Given the description of an element on the screen output the (x, y) to click on. 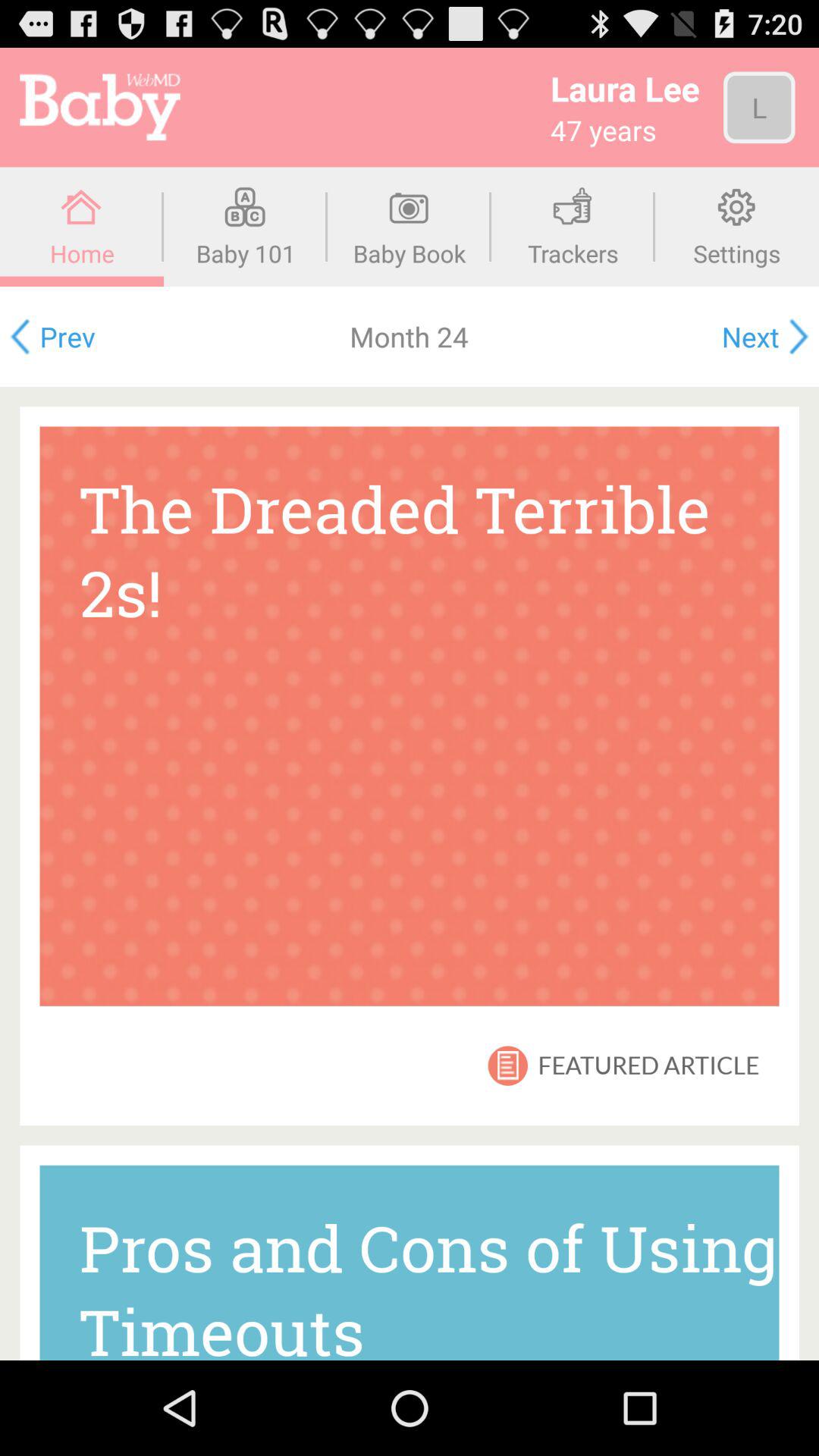
turn on the item above the pros and cons (648, 1065)
